Given the description of an element on the screen output the (x, y) to click on. 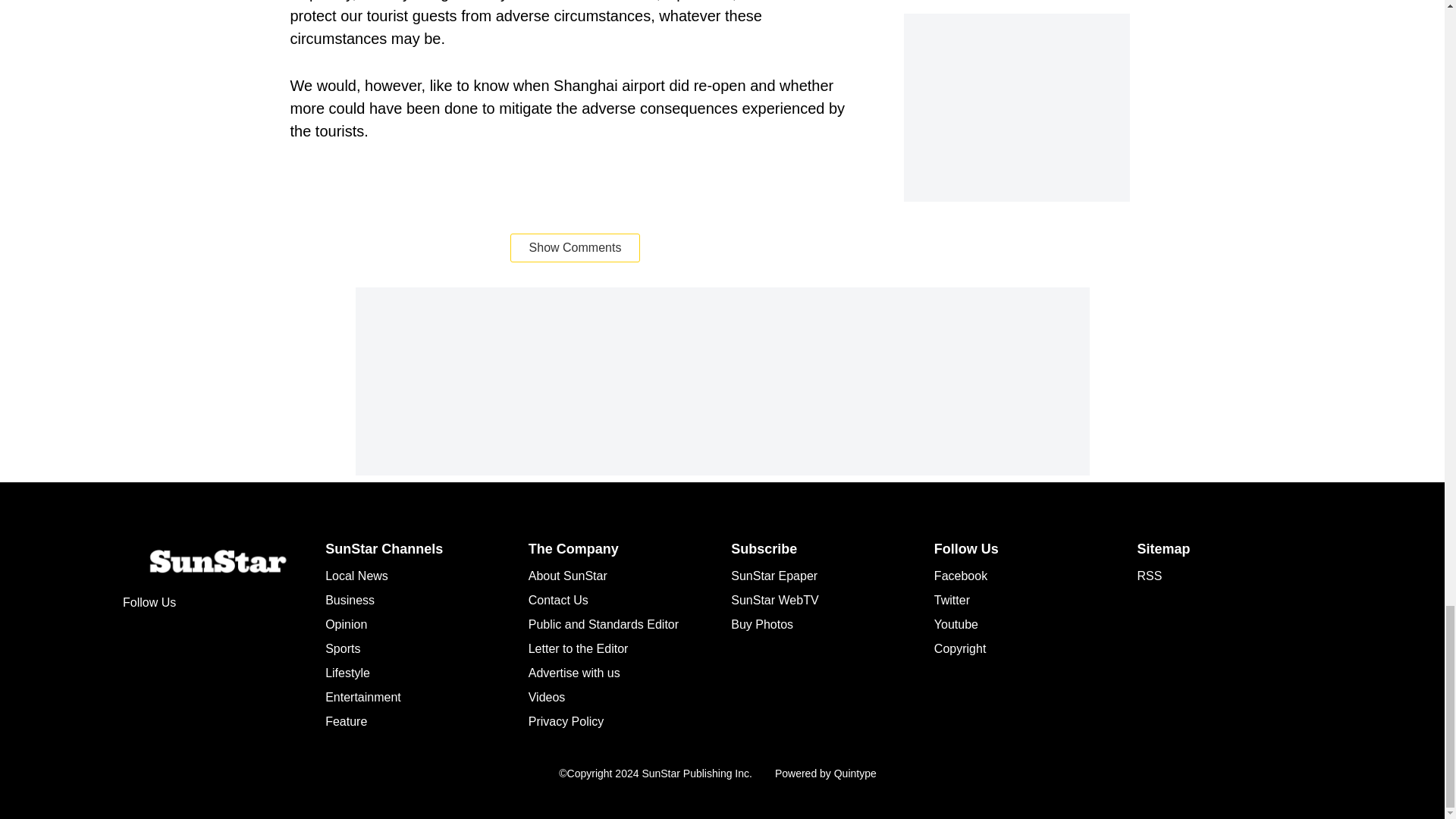
Business (349, 599)
Opinion (345, 624)
Sports (341, 648)
Show Comments (575, 247)
Local News (356, 575)
